Given the description of an element on the screen output the (x, y) to click on. 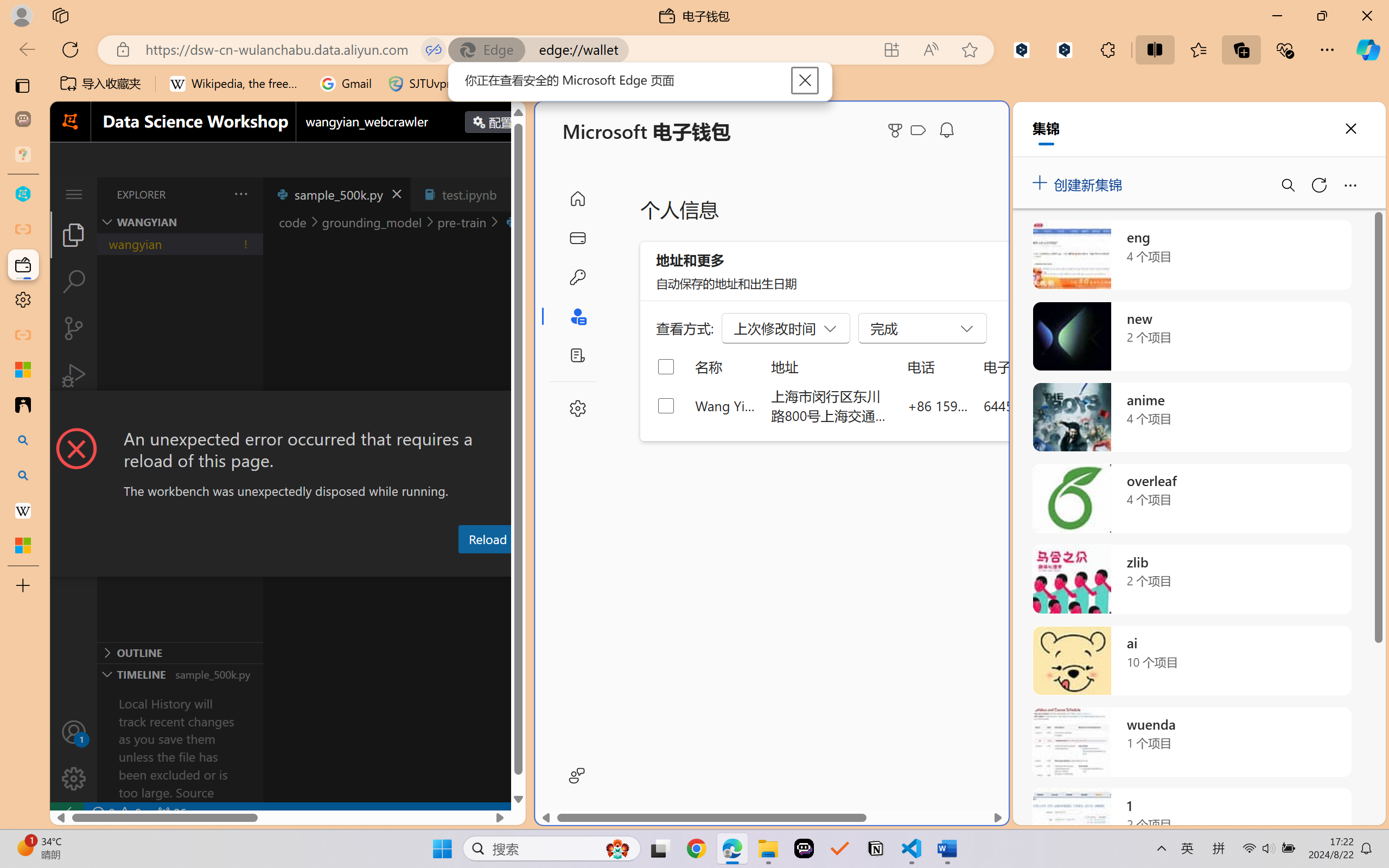
Application Menu (73, 194)
+86 159 0032 4640 (938, 405)
Copilot (Ctrl+Shift+.) (1368, 49)
Views and More Actions... (240, 193)
Timeline Section (179, 673)
Class: ___1lmltc5 f1agt3bx f12qytpq (917, 130)
